Given the description of an element on the screen output the (x, y) to click on. 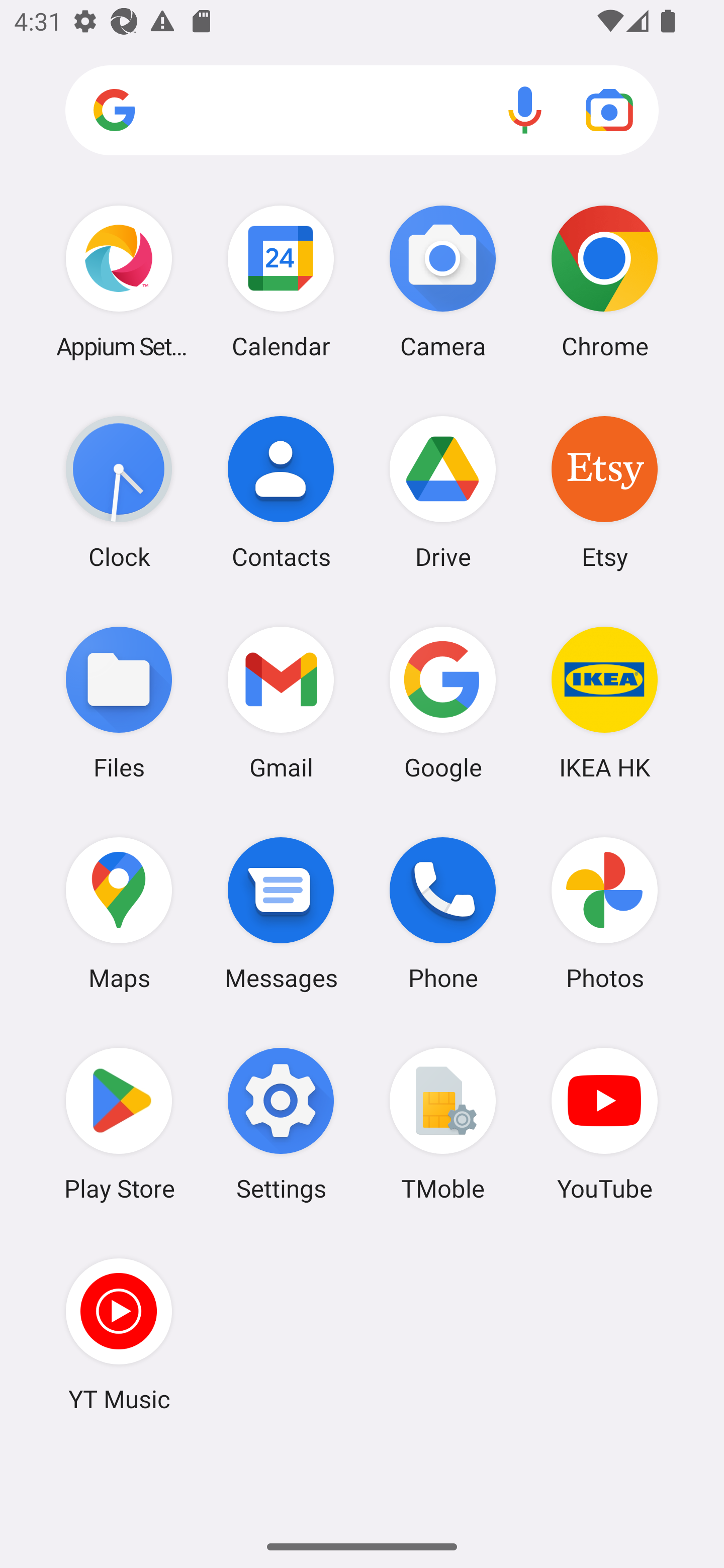
Search apps, web and more (361, 110)
Voice search (524, 109)
Google Lens (608, 109)
Appium Settings (118, 281)
Calendar (280, 281)
Camera (443, 281)
Chrome (604, 281)
Clock (118, 492)
Contacts (280, 492)
Drive (443, 492)
Etsy (604, 492)
Files (118, 702)
Gmail (280, 702)
Google (443, 702)
IKEA HK (604, 702)
Maps (118, 913)
Messages (280, 913)
Phone (443, 913)
Photos (604, 913)
Play Store (118, 1124)
Settings (280, 1124)
TMoble (443, 1124)
YouTube (604, 1124)
YT Music (118, 1334)
